Given the description of an element on the screen output the (x, y) to click on. 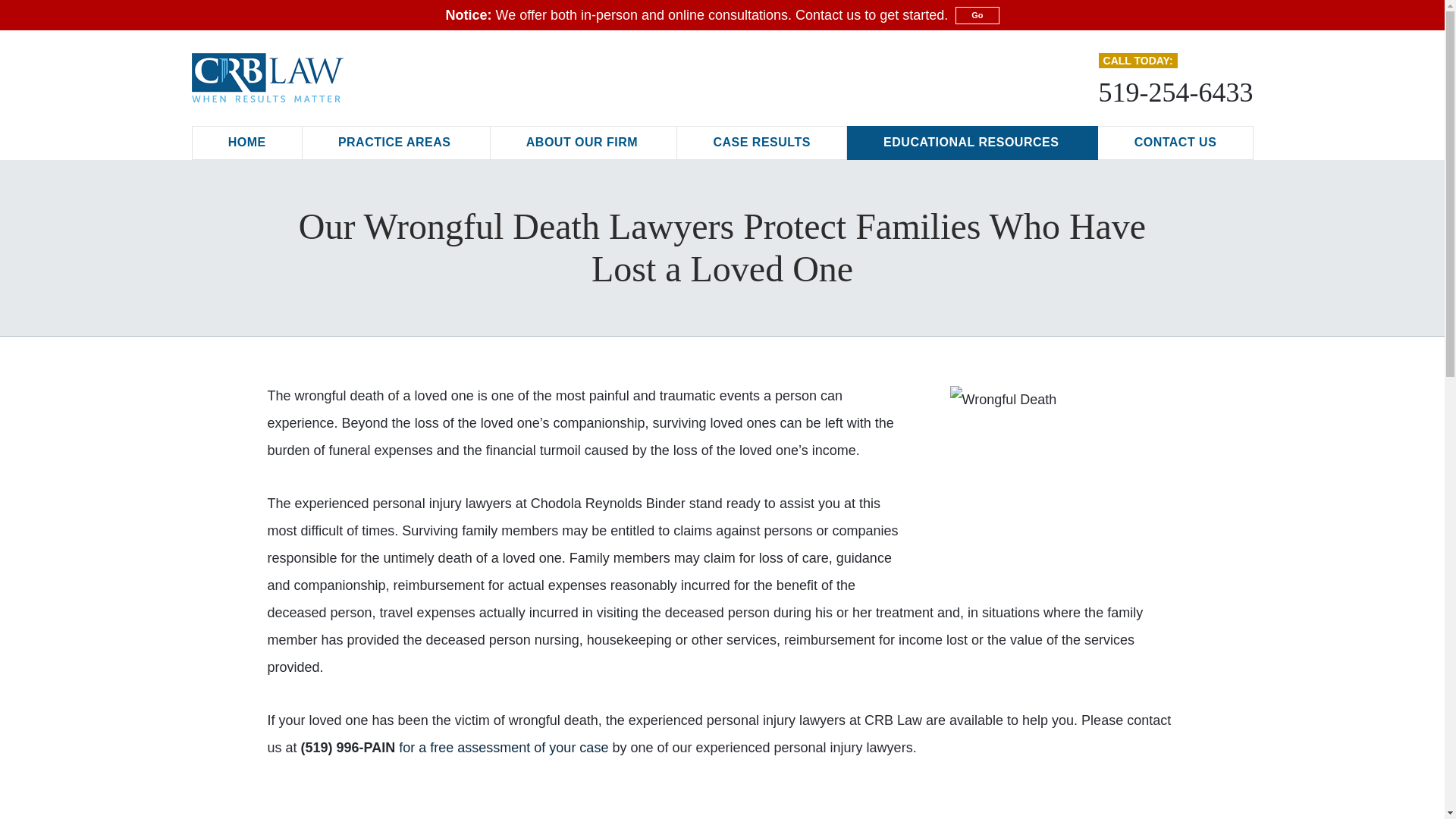
PRACTICE AREAS (395, 142)
EDUCATIONAL RESOURCES (972, 142)
CASE RESULTS (761, 142)
HOME (246, 142)
ABOUT OUR FIRM (583, 142)
CONTACT US (1174, 142)
for a free assessment of your case (503, 747)
Go (976, 14)
